Given the description of an element on the screen output the (x, y) to click on. 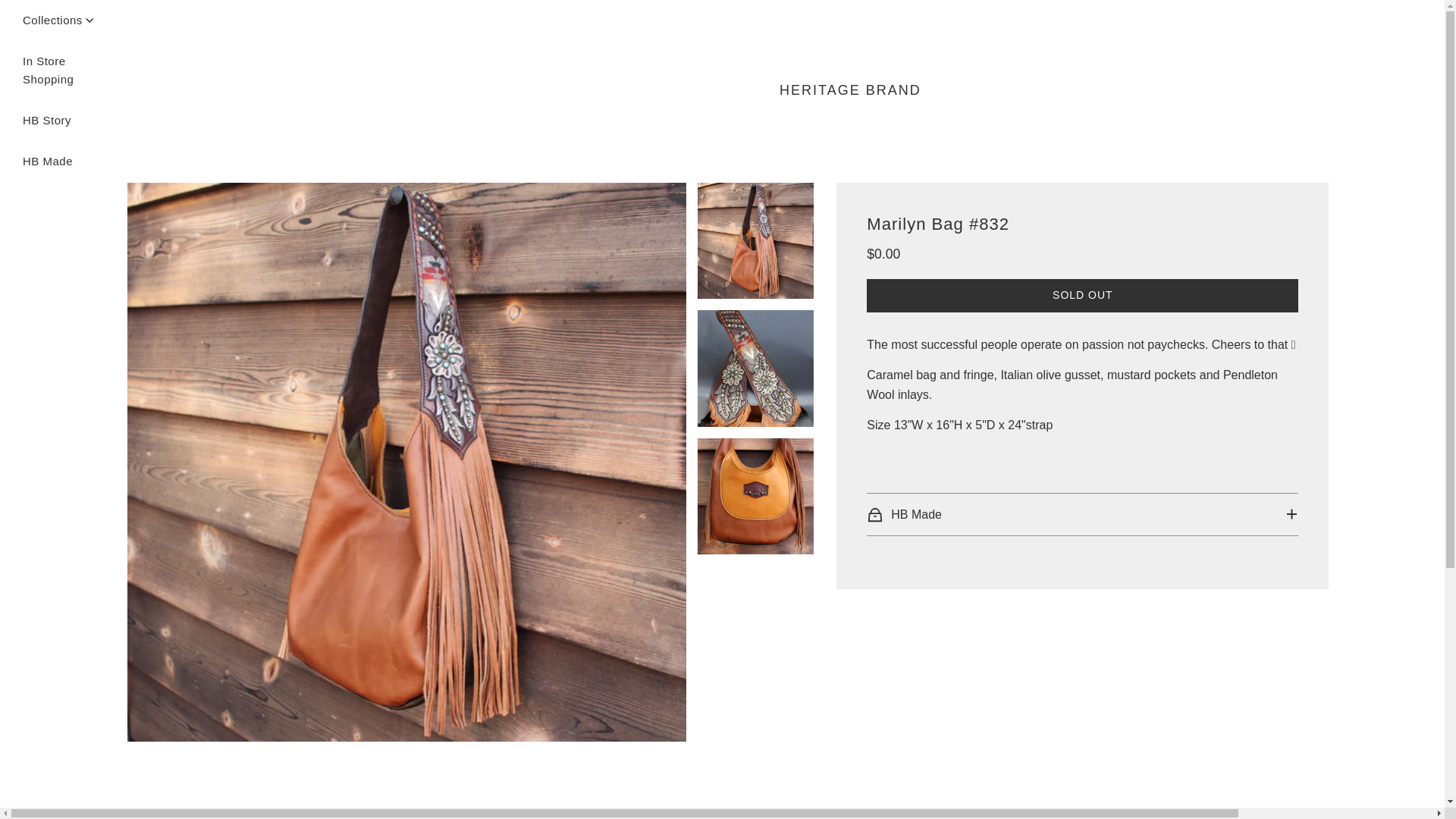
Collections (57, 20)
HB Made (47, 160)
HERITAGE BRAND (850, 90)
In Store Shopping (57, 69)
HB Story (1082, 295)
